Given the description of an element on the screen output the (x, y) to click on. 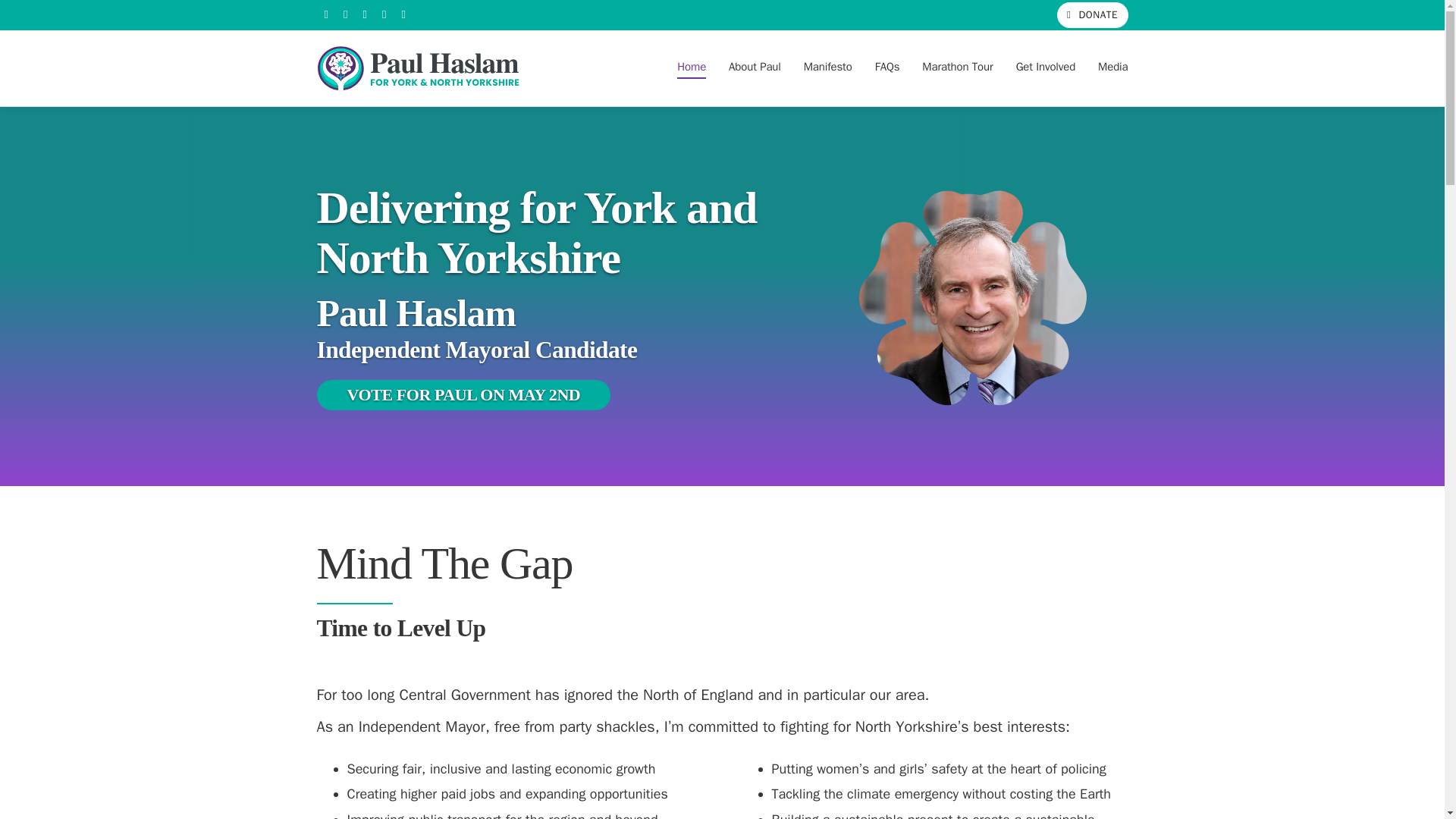
FAQs (887, 67)
Marathon Tour (956, 67)
About Paul (754, 67)
Get Involved (1045, 67)
Media (1111, 67)
Home (691, 67)
DONATE (1092, 14)
Manifesto (827, 67)
